Given the description of an element on the screen output the (x, y) to click on. 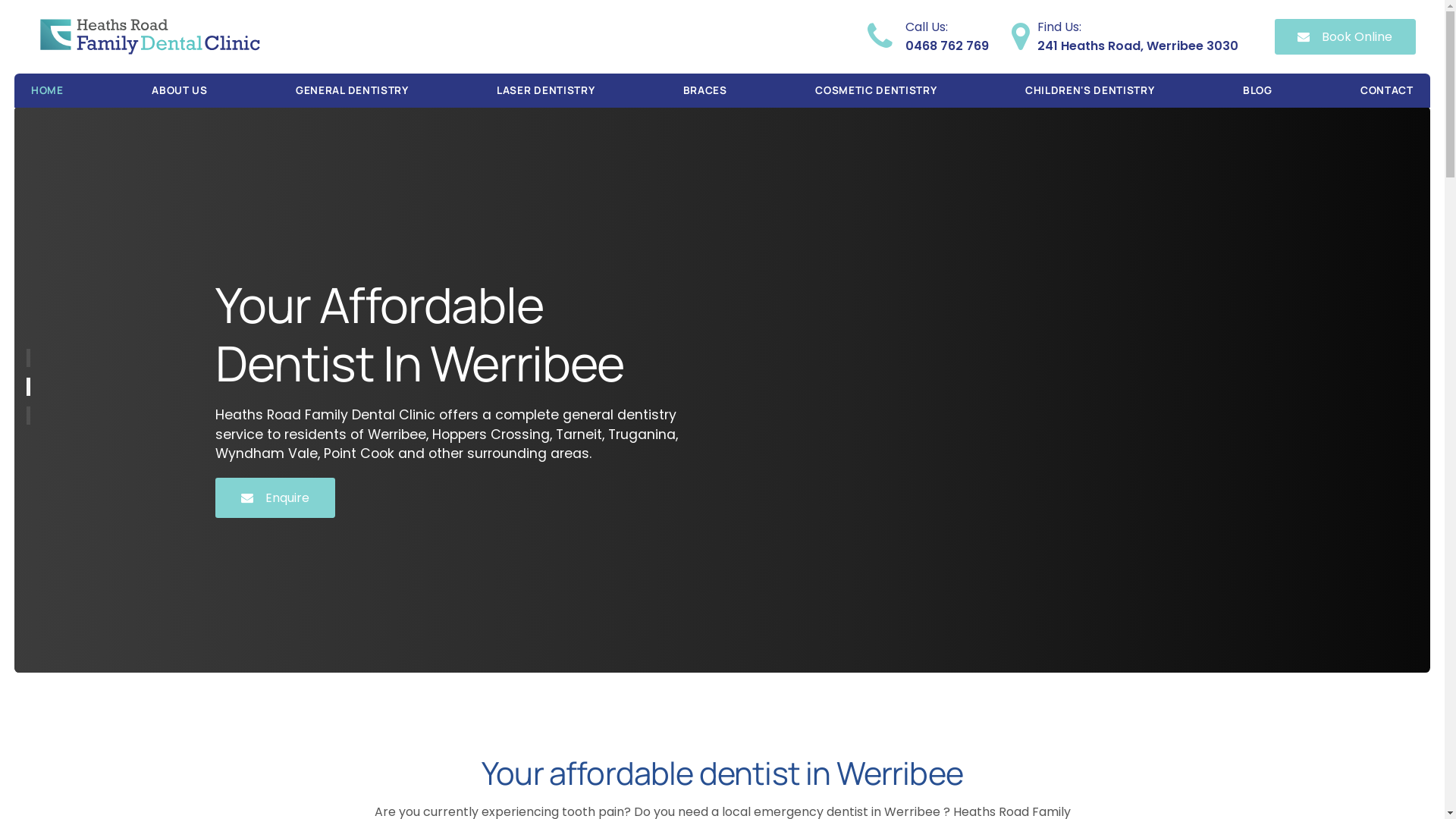
HOME Element type: text (47, 90)
BRACES Element type: text (704, 90)
Find Us:
241 Heaths Road, Werribee 3030 Element type: text (1137, 36)
CONTACT Element type: text (1386, 90)
CHILDREN'S DENTISTRY Element type: text (1089, 90)
GENERAL DENTISTRY Element type: text (352, 90)
LASER DENTISTRY Element type: text (545, 90)
BLOG Element type: text (1257, 90)
Book Online Element type: text (1345, 36)
ABOUT US Element type: text (179, 90)
Enquire Element type: text (275, 497)
COSMETIC DENTISTRY Element type: text (875, 90)
